Given the description of an element on the screen output the (x, y) to click on. 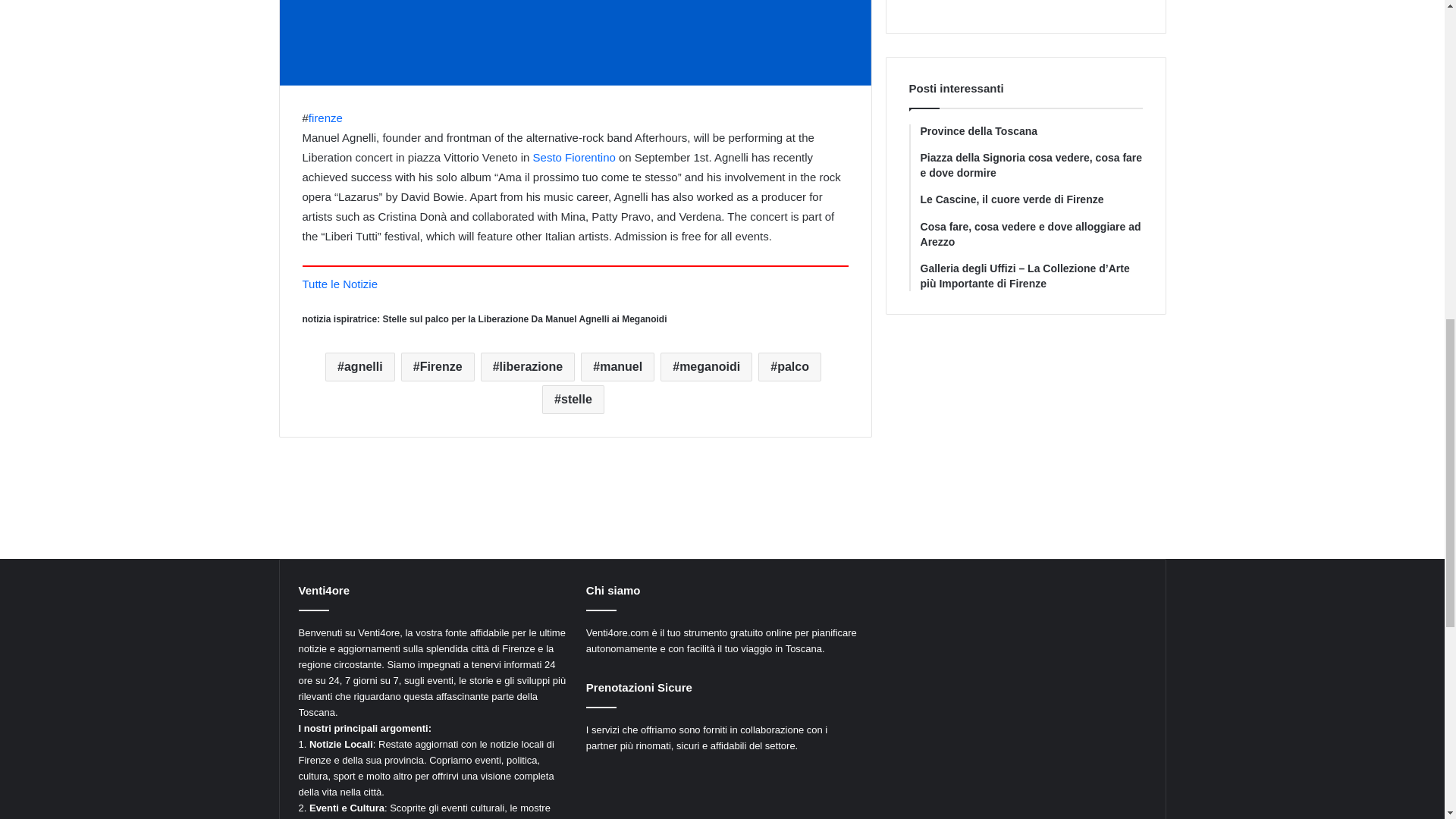
Le Cascine, il cuore verde di Firenze (1031, 200)
meganoidi (706, 366)
agnelli (359, 366)
Firenze (437, 366)
stelle (572, 399)
Province della Toscana (1031, 131)
firenze (325, 117)
Sesto Fiorentino (573, 156)
manuel (616, 366)
Tutte le Notizie (339, 283)
